Given the description of an element on the screen output the (x, y) to click on. 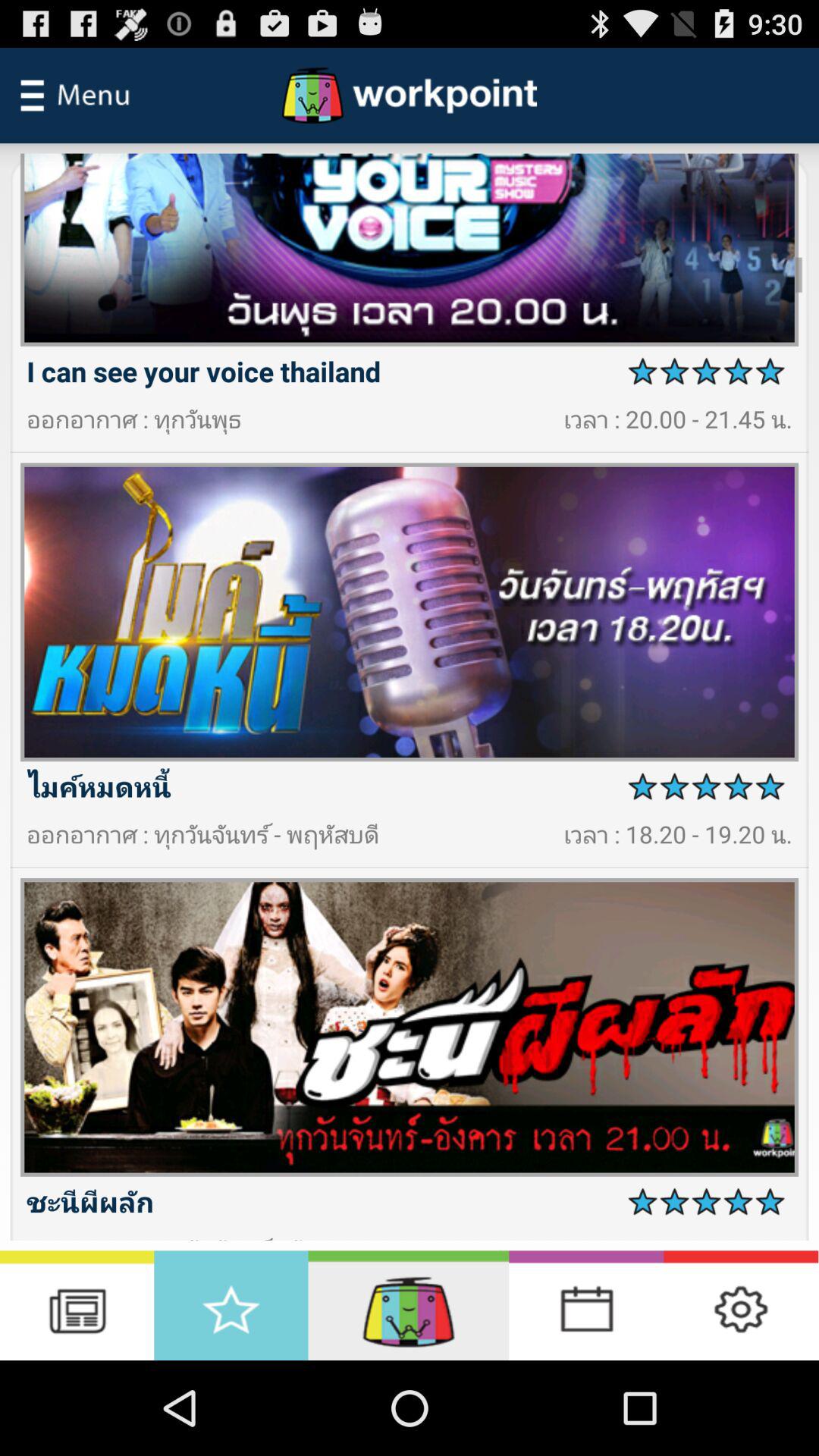
to see the notes (77, 1305)
